Given the description of an element on the screen output the (x, y) to click on. 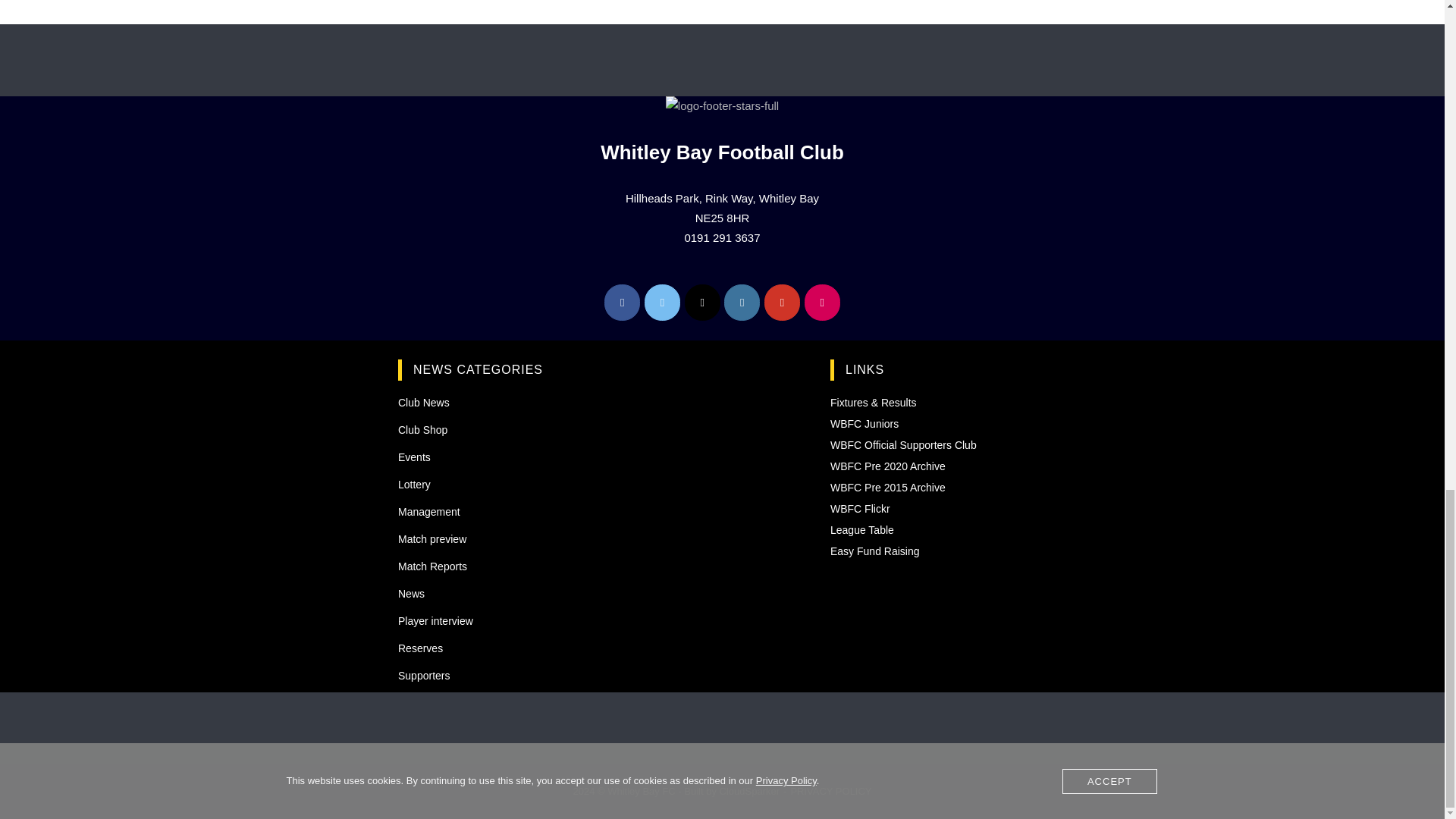
Whitley Bay FC on Instagram (741, 302)
Whitley Bay FC on Youtube (781, 302)
Whitley Bay FC on Flickr (822, 302)
Whitley Bay FC on Facebook (622, 302)
Whitley Bay FC on X Twitter (702, 302)
Whitley Bay FC on X Twitter (662, 302)
